Given the description of an element on the screen output the (x, y) to click on. 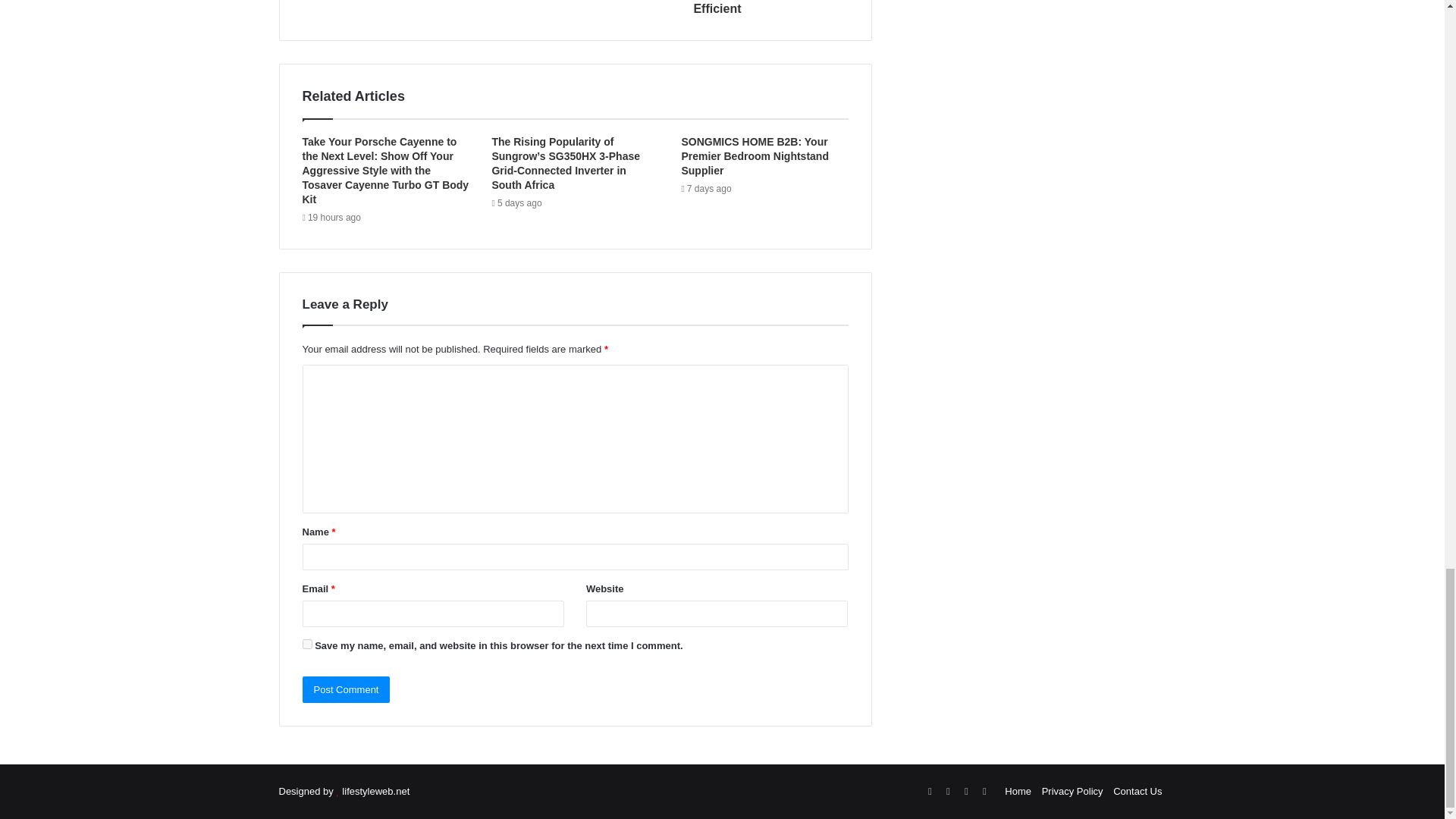
yes (306, 644)
Post Comment (345, 689)
